Given the description of an element on the screen output the (x, y) to click on. 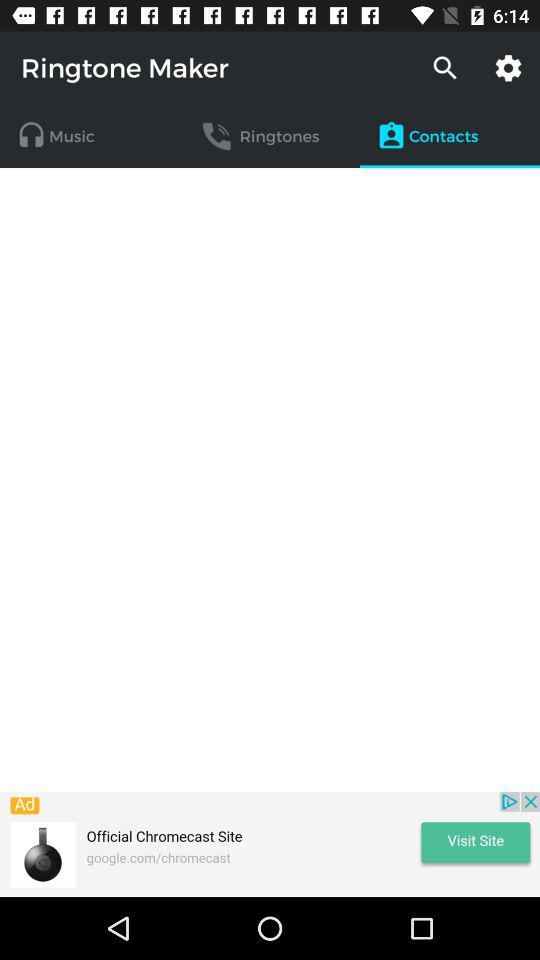
advertisement for chromecast (270, 844)
